Given the description of an element on the screen output the (x, y) to click on. 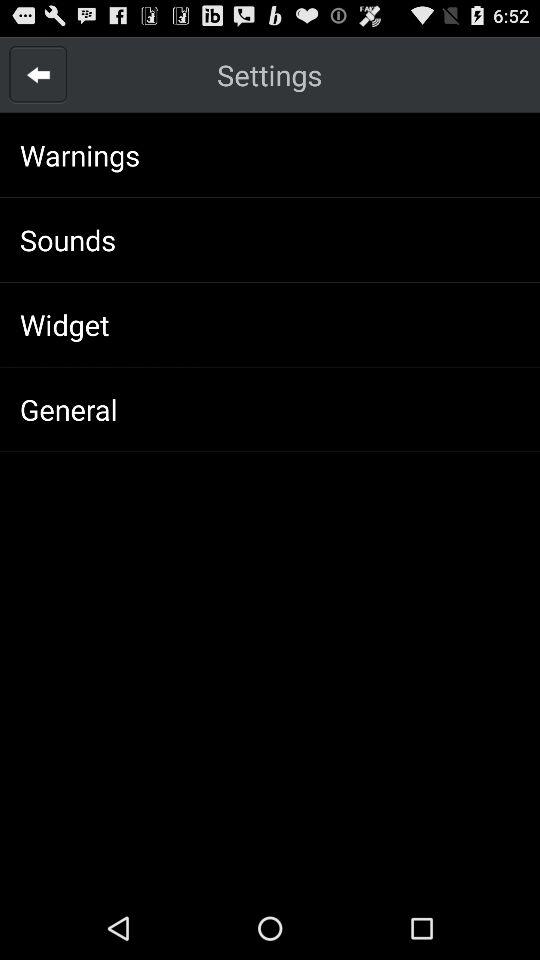
turn off item next to the settings app (38, 74)
